Given the description of an element on the screen output the (x, y) to click on. 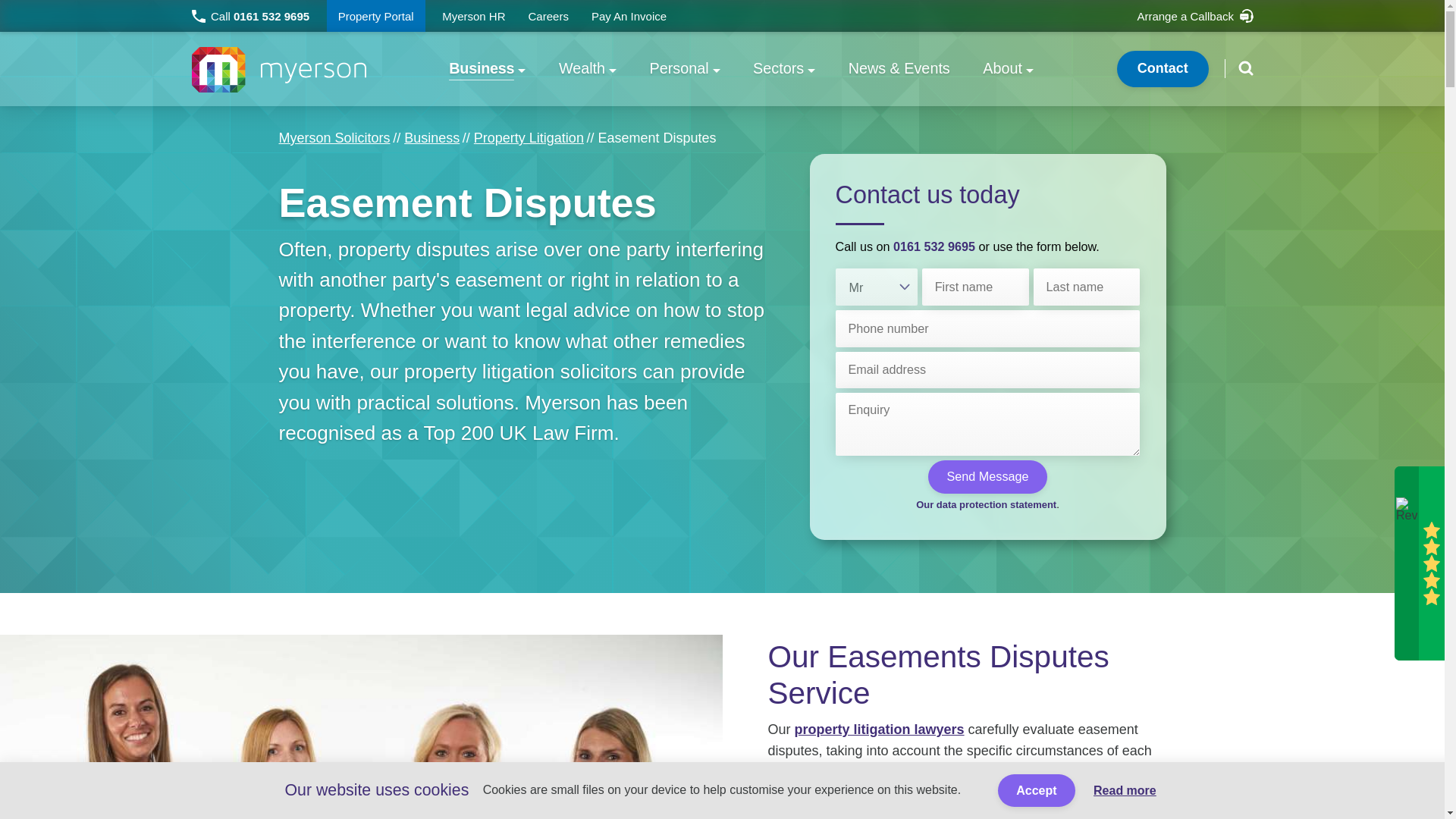
Myerson Solicitors (334, 137)
Property Portal (375, 15)
0161 532 9695 (934, 246)
Business (486, 68)
Our data protection statement (986, 504)
Business (432, 137)
Careers (547, 15)
Pay An Invoice (628, 15)
Business (432, 137)
Property Litigation (528, 137)
Property Litigation (528, 137)
Contact (1162, 68)
Personal (685, 68)
Send Message (987, 476)
